Given the description of an element on the screen output the (x, y) to click on. 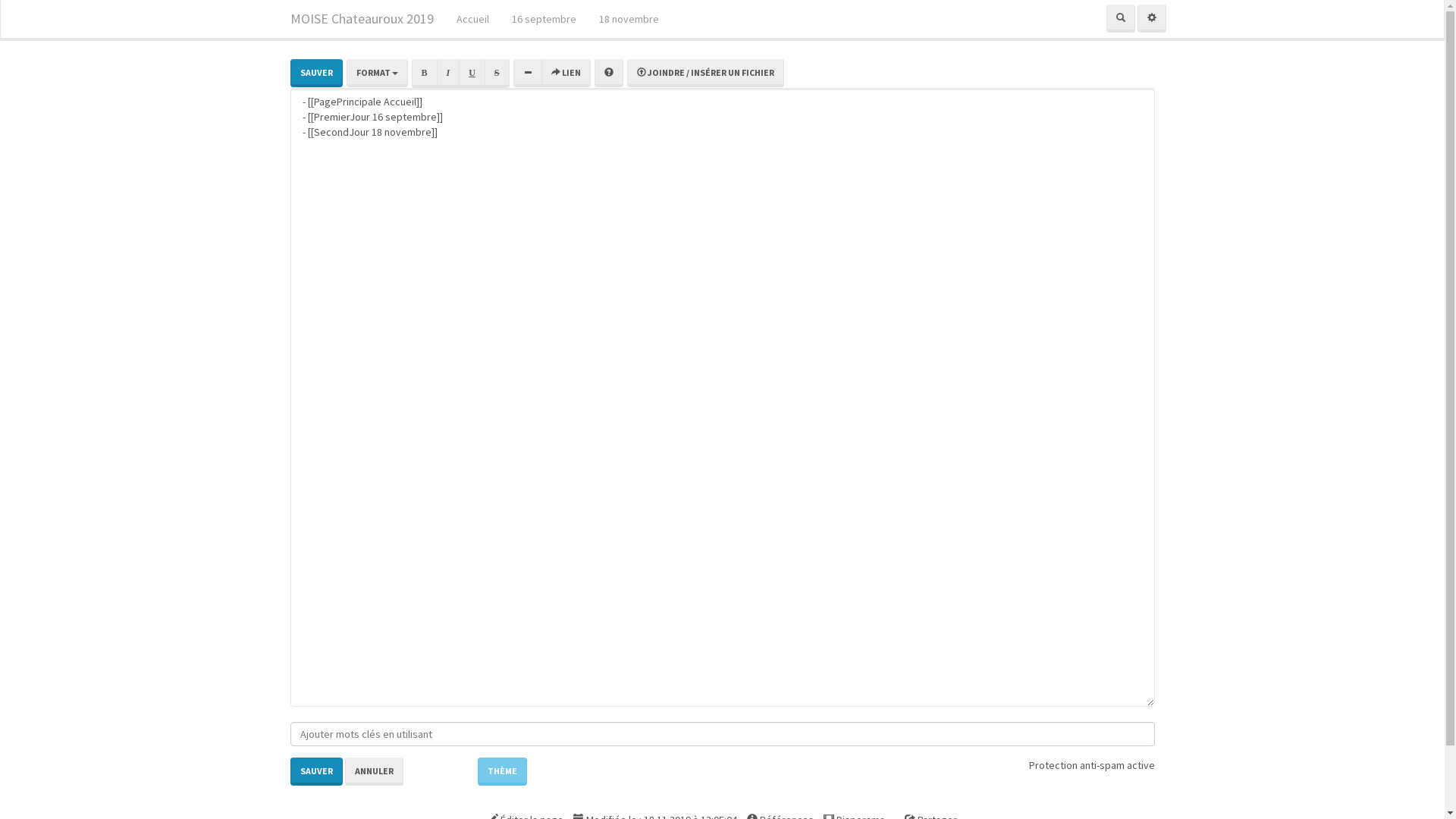
SAUVER Element type: text (315, 73)
ANNULER Element type: text (373, 771)
MOISE Chateauroux 2019 Element type: text (362, 18)
S Element type: text (496, 73)
RECHERCHER Element type: text (1119, 18)
LIEN Element type: text (565, 73)
SAUVER Element type: text (315, 771)
16 septembre Element type: text (543, 18)
B Element type: text (423, 73)
U Element type: text (471, 73)
Accueil Element type: text (471, 18)
FORMAT Element type: text (376, 73)
I Element type: text (448, 73)
18 novembre Element type: text (627, 18)
